Given the description of an element on the screen output the (x, y) to click on. 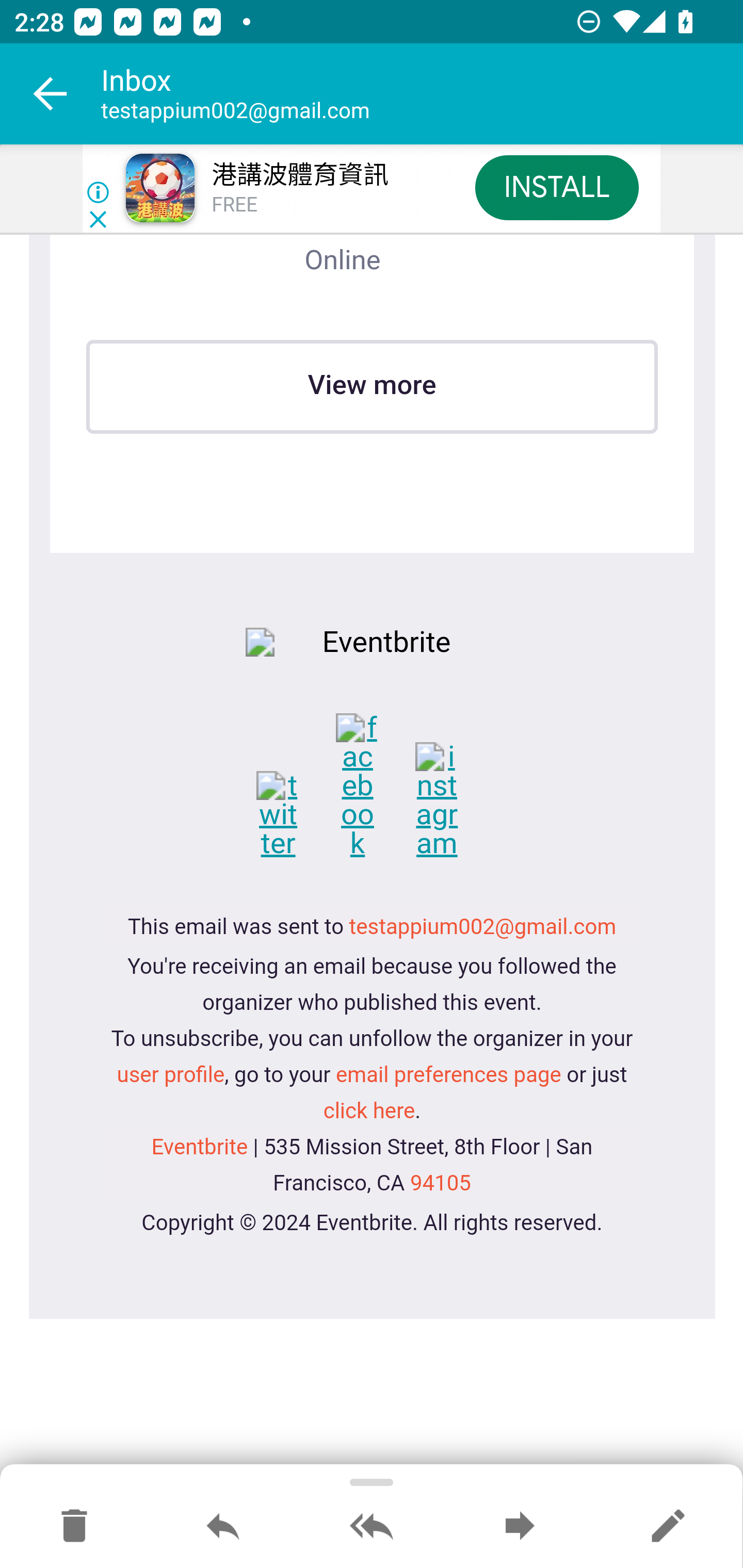
Navigate up (50, 93)
Inbox testappium002@gmail.com (422, 93)
INSTALL (556, 187)
港講波體育資訊 (299, 175)
FREE (234, 204)
View more (371, 386)
Eventbrite's Facebook facebook (372, 786)
Eventbrite's Instagram instagram (450, 801)
Eventbrite's Twitter twitter (292, 815)
testappium002@gmail.com (482, 928)
user profile (170, 1075)
email preferences page (448, 1075)
click here (368, 1111)
Eventbrite (198, 1147)
94105 (439, 1183)
Move to Deleted (74, 1527)
Reply (222, 1527)
Reply all (371, 1527)
Forward (519, 1527)
Reply as new (667, 1527)
